Given the description of an element on the screen output the (x, y) to click on. 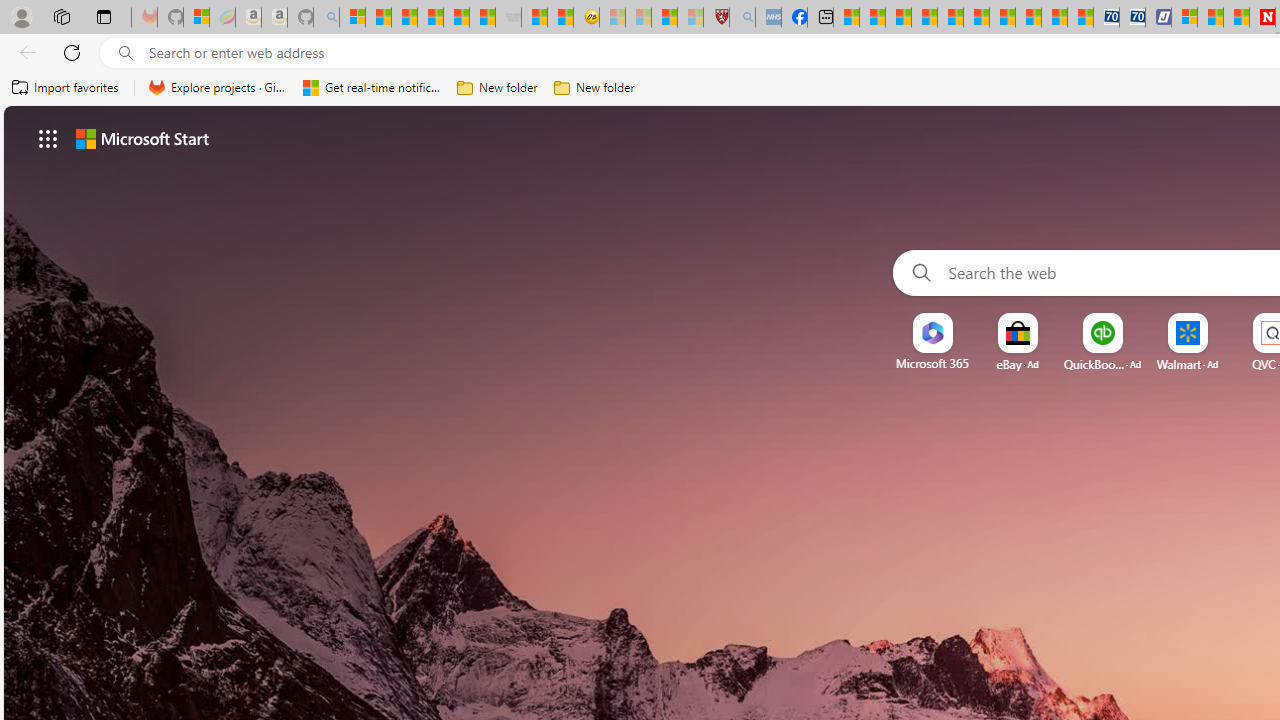
list of asthma inhalers uk - Search - Sleeping (742, 17)
Recipes - MSN - Sleeping (612, 17)
New folder (594, 88)
Robert H. Shmerling, MD - Harvard Health (716, 17)
